Given the description of an element on the screen output the (x, y) to click on. 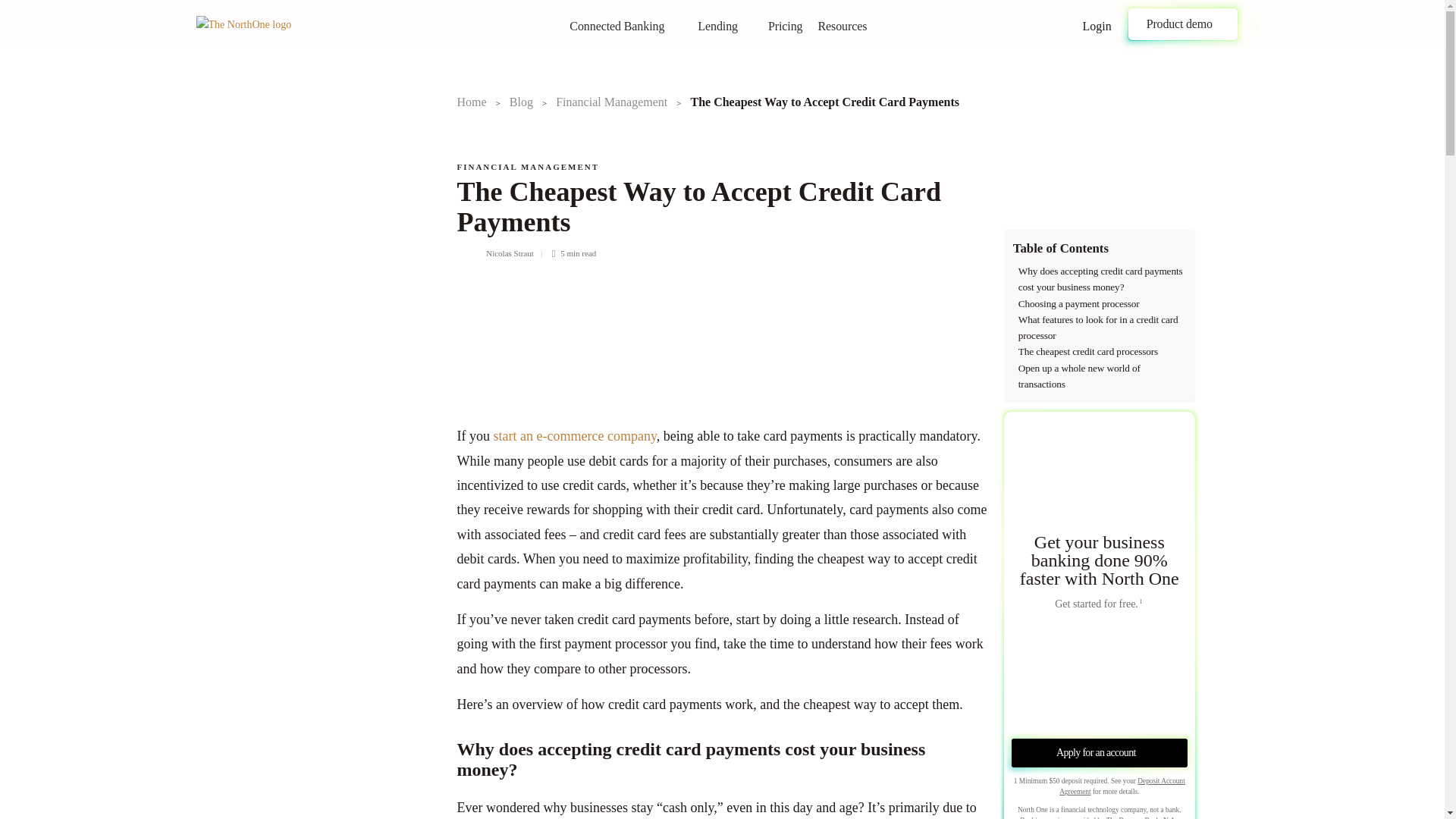
Financial Management (611, 101)
Open up a whole new world of transactions (1101, 376)
Blog (520, 101)
FINANCIAL MANAGEMENT (527, 166)
Pricing (787, 26)
Home (471, 101)
What features to look for in a credit card processor (1101, 327)
Home (471, 101)
What features to look for in a credit card processor (1101, 327)
Apply for an account (1099, 752)
The cheapest credit card processors (1087, 351)
Product demo (1182, 24)
Login (1094, 26)
